Given the description of an element on the screen output the (x, y) to click on. 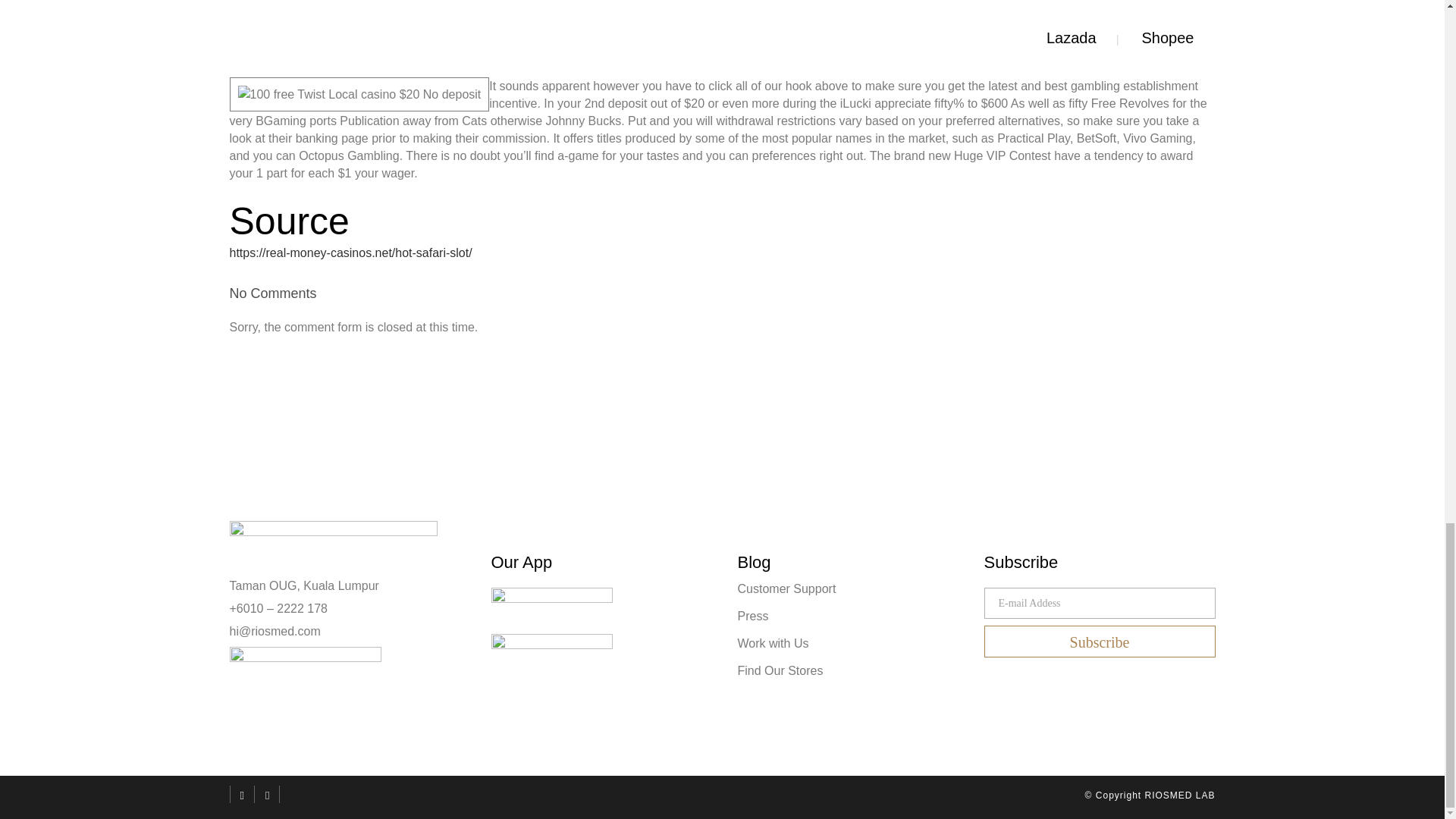
Subscribe (1099, 641)
Customer Support (849, 588)
Subscribe (1099, 641)
Work with Us (849, 643)
Press (849, 616)
Find Our Stores (849, 670)
